Given the description of an element on the screen output the (x, y) to click on. 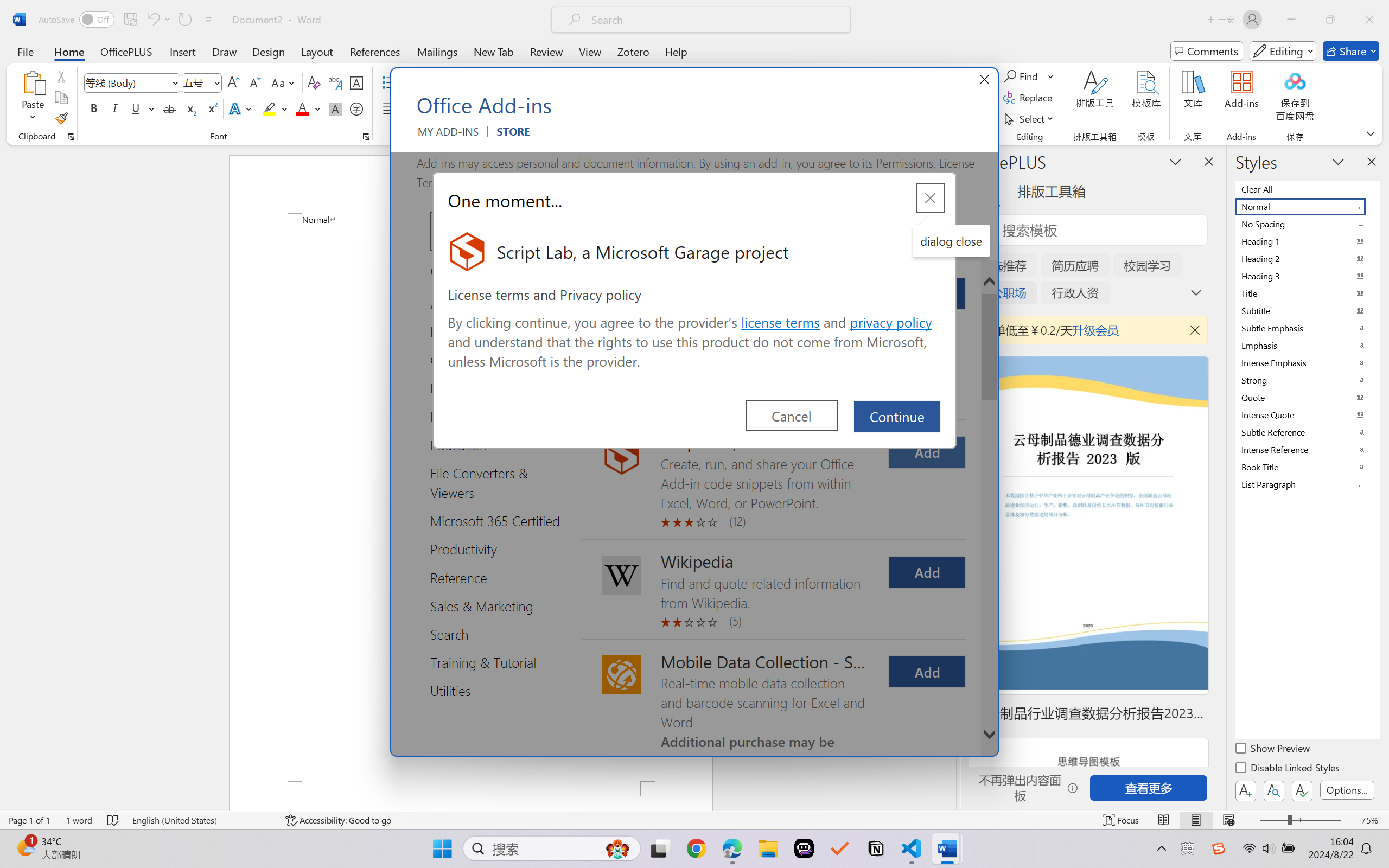
Design (268, 51)
Text Highlight Color (274, 108)
Spelling and Grammar Check No Errors (113, 819)
Heading 3 (1306, 275)
Grow Font (233, 82)
Font (132, 82)
Home (69, 51)
MY ADD-INS (448, 135)
New Tab (493, 51)
Subtle Emphasis (1306, 327)
